Given the description of an element on the screen output the (x, y) to click on. 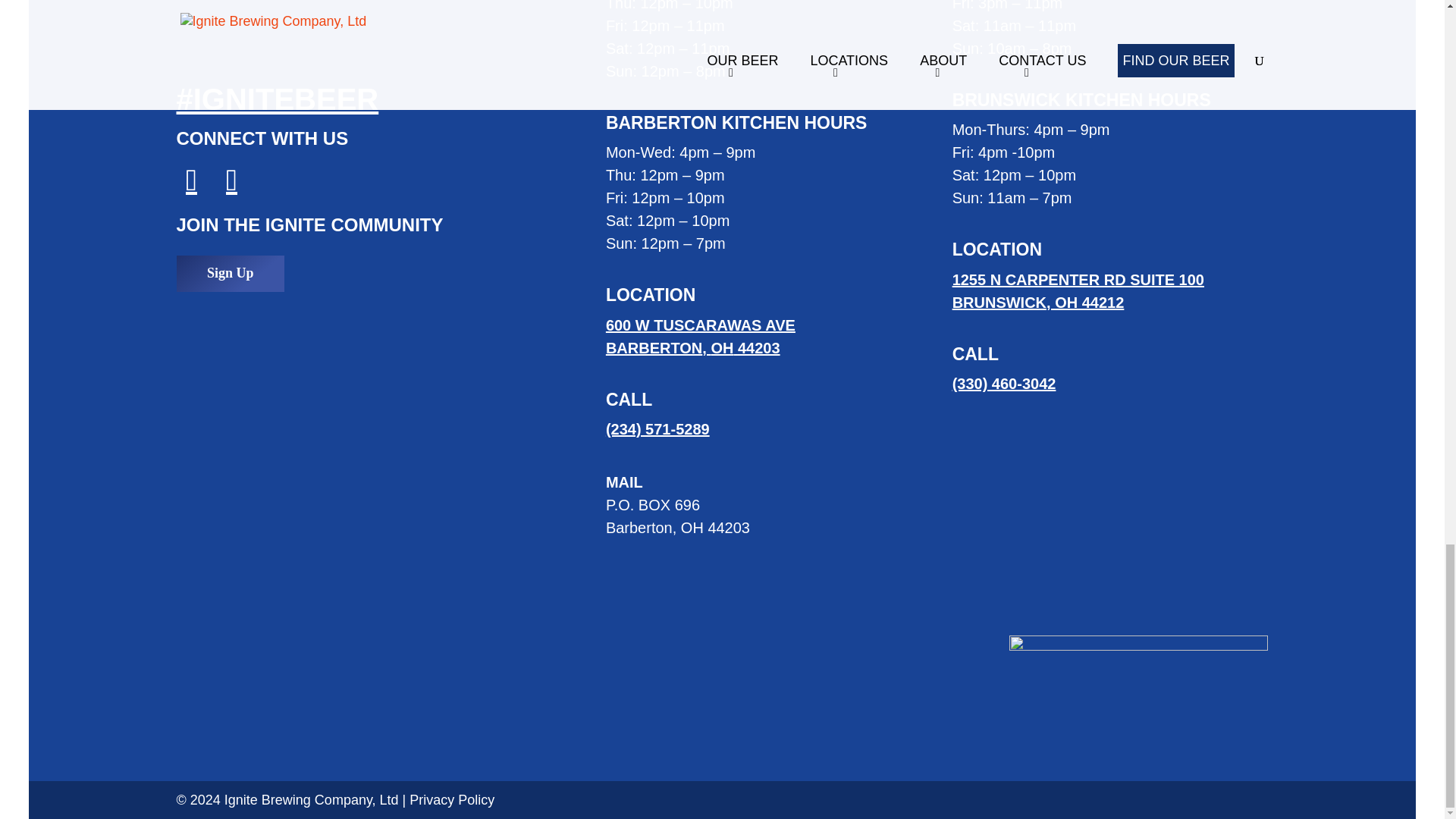
Privacy Policy (452, 799)
Sign Up (229, 273)
igbc-logos (1138, 672)
Follow on Facebook (699, 336)
Group 106 (1078, 291)
Follow on Instagram (187, 179)
